Given the description of an element on the screen output the (x, y) to click on. 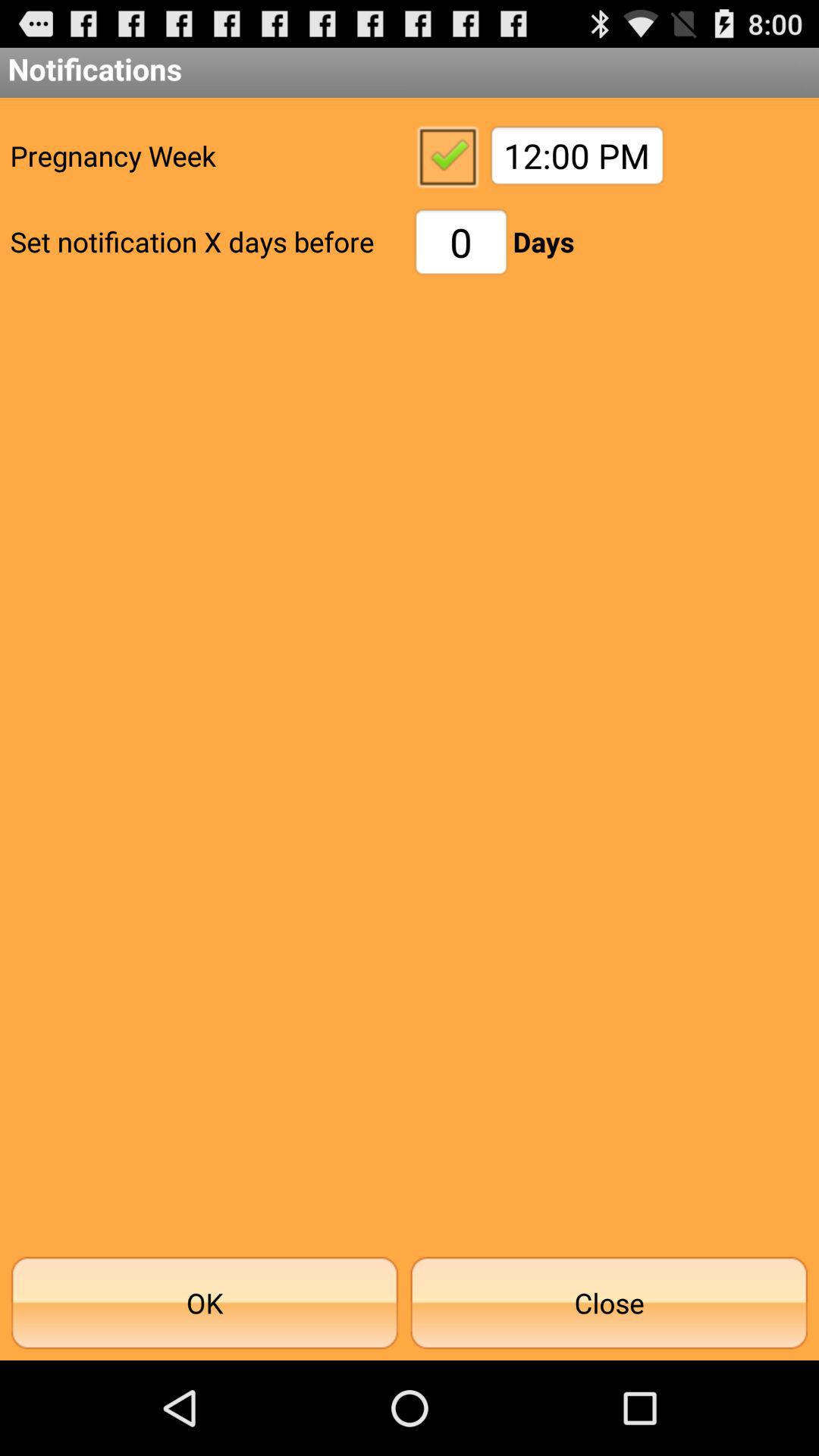
swipe until ok icon (204, 1302)
